Given the description of an element on the screen output the (x, y) to click on. 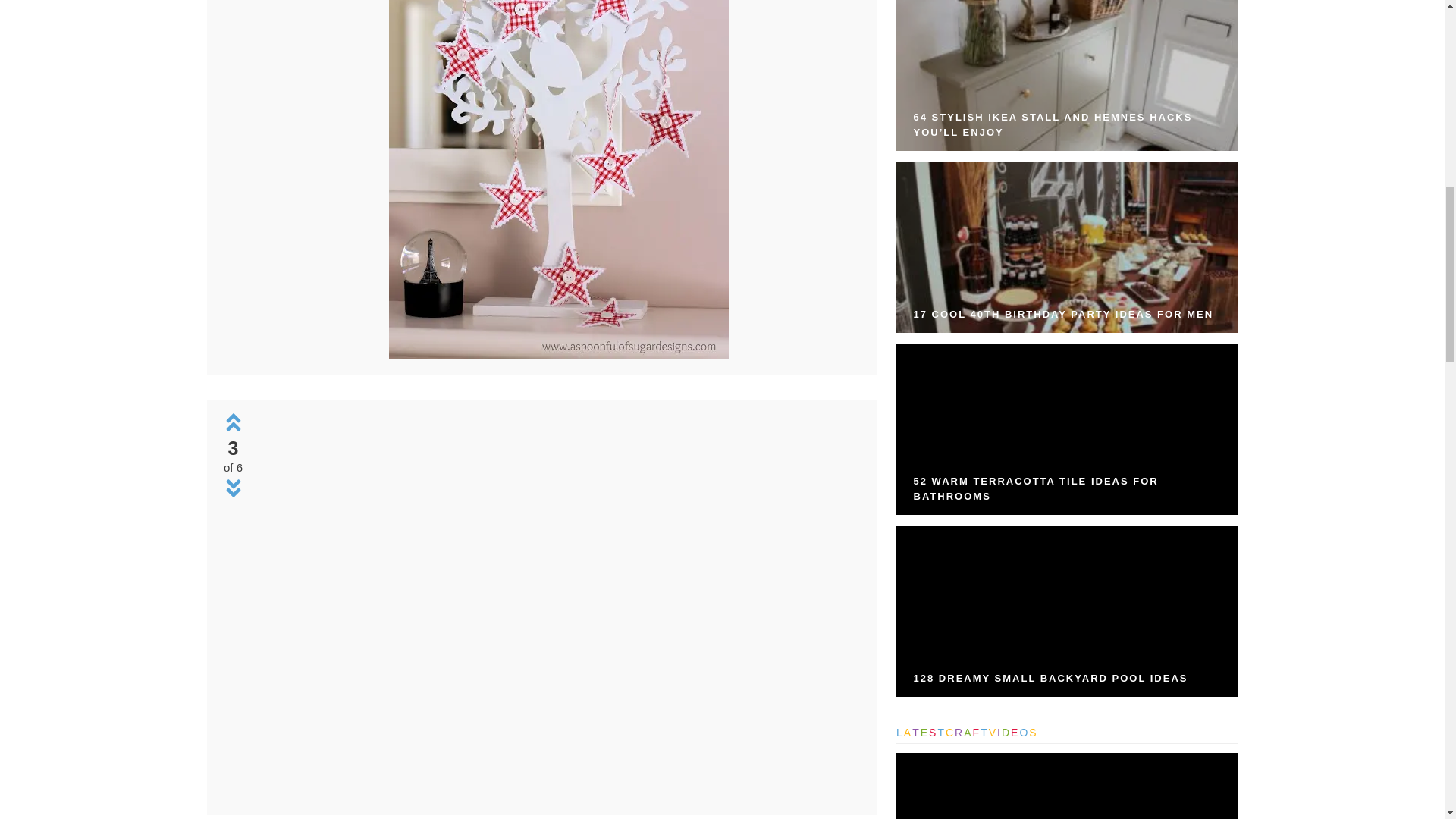
Diy Gingham Stars For Christmas Decor (558, 354)
Diy Gingham Stars For Christmas Decor (558, 179)
Diy Gingham Stars For Christmas Decor (558, 793)
